Given the description of an element on the screen output the (x, y) to click on. 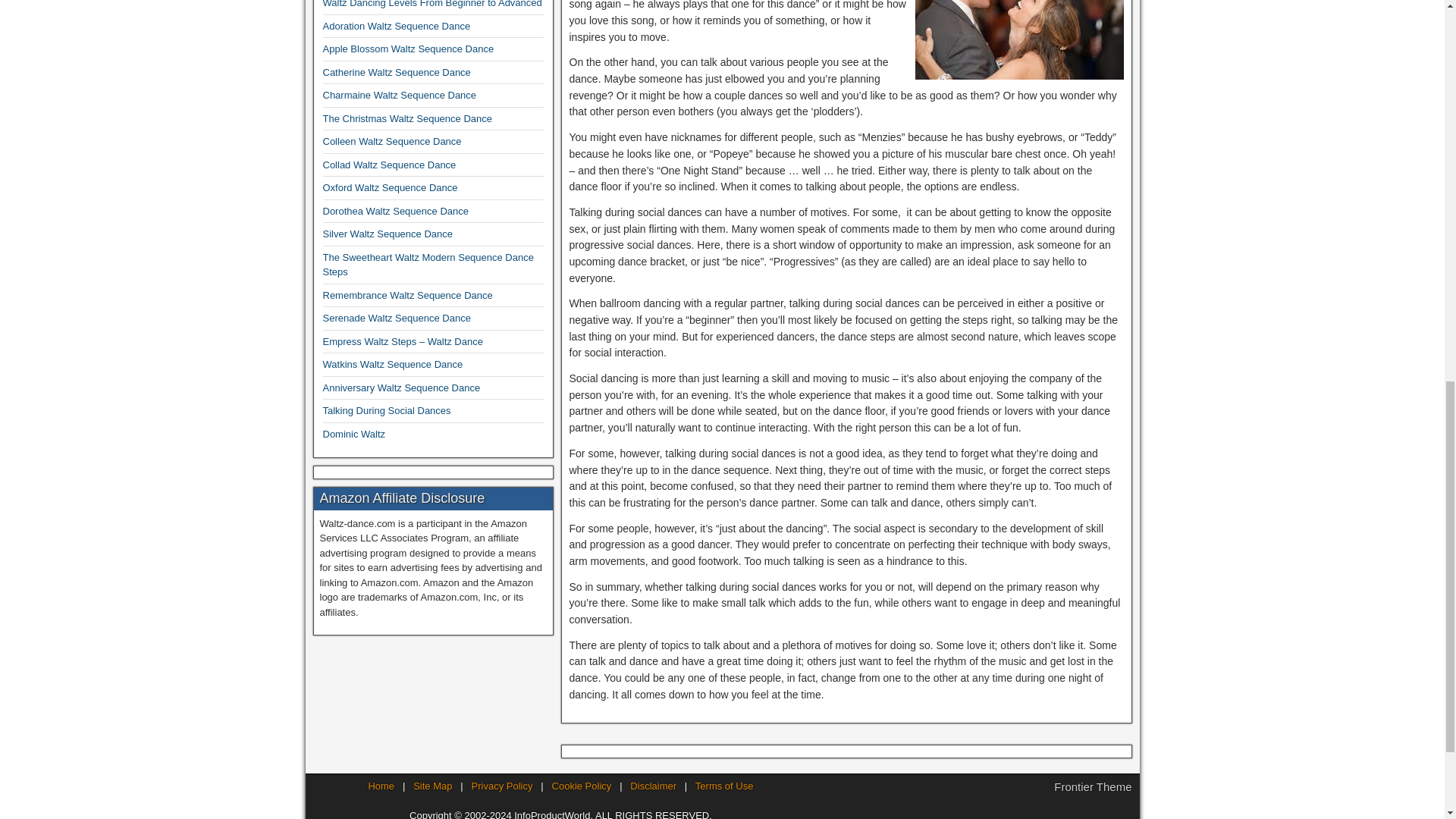
Dominic Waltz (354, 433)
Collad Waltz Sequence Dance (390, 164)
The Sweetheart Waltz Modern Sequence Dance Steps (428, 264)
Adoration Waltz Sequence Dance (396, 25)
Apple Blossom Waltz Sequence Dance (409, 48)
Silver Waltz Sequence Dance (387, 233)
Terms of Use (724, 785)
Charmaine Waltz Sequence Dance (400, 94)
Cookie Policy (581, 785)
Anniversary Waltz Sequence Dance (401, 387)
The Christmas Waltz Sequence Dance (408, 118)
Dorothea Waltz Sequence Dance (395, 211)
Site Map (432, 785)
Remembrance Waltz Sequence Dance (408, 295)
Home (381, 785)
